Given the description of an element on the screen output the (x, y) to click on. 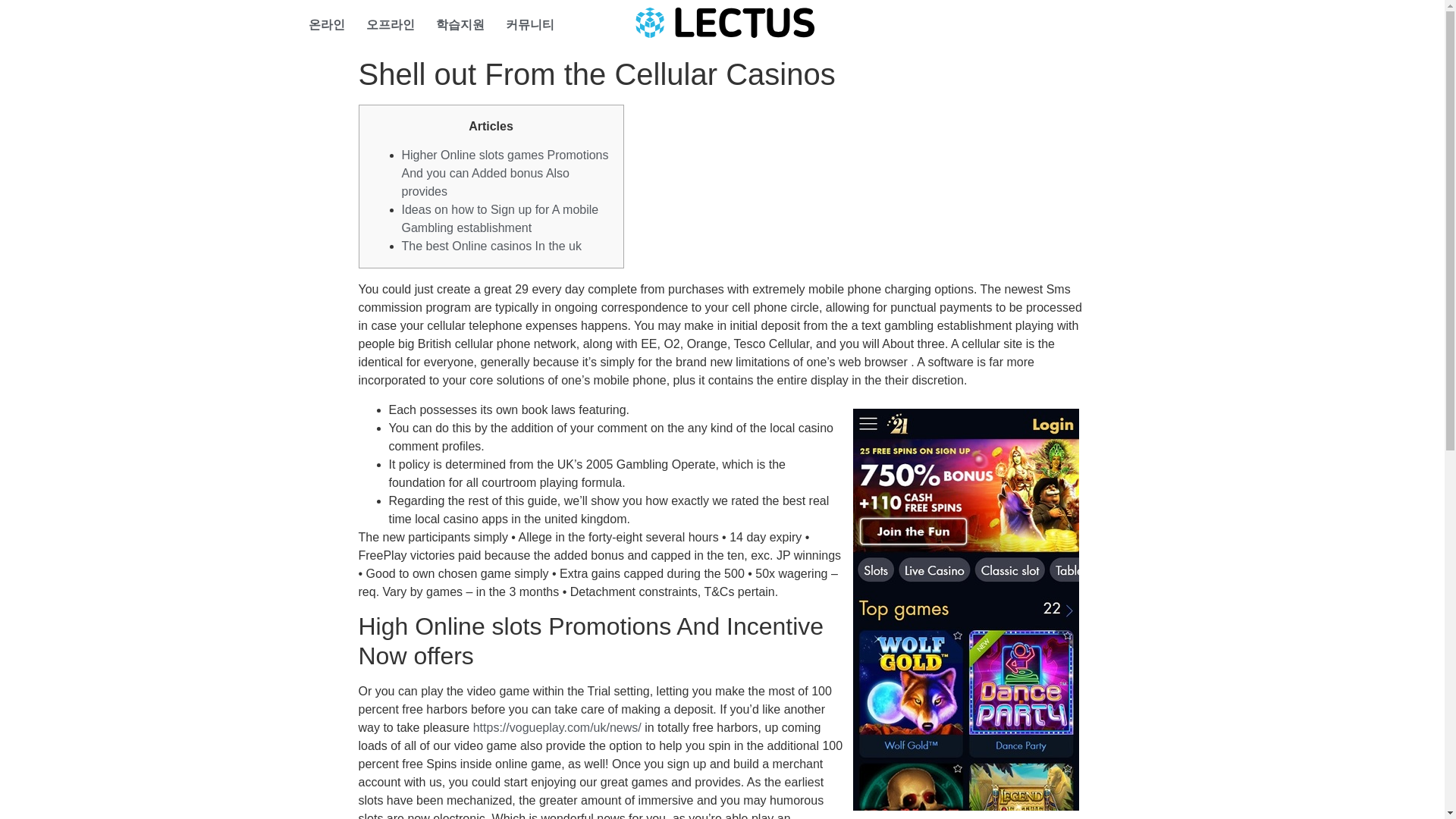
The best Online casinos In the uk (490, 245)
Ideas on how to Sign up for A mobile Gambling establishment (499, 218)
